Given the description of an element on the screen output the (x, y) to click on. 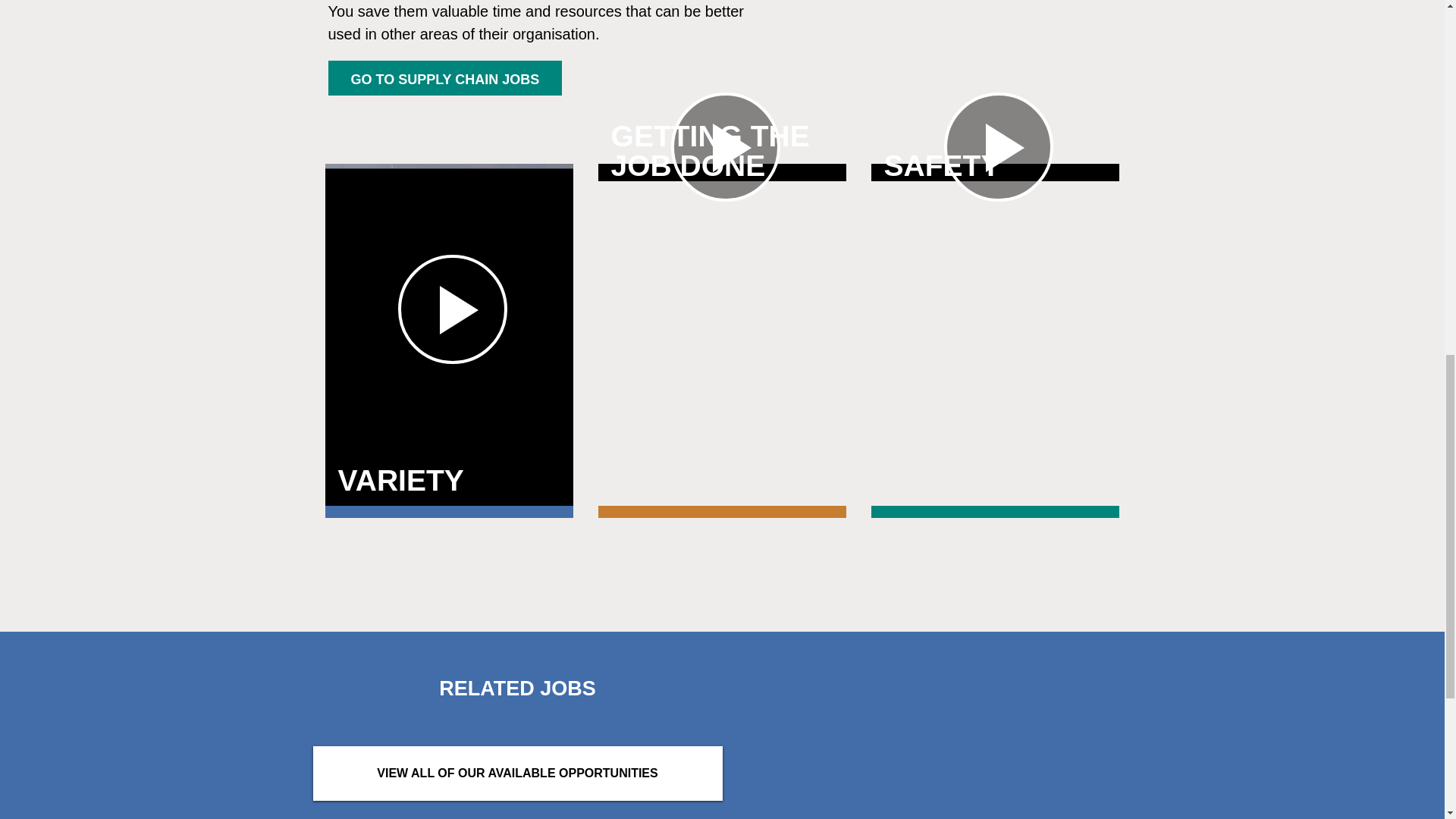
GO TO SUPPLY CHAIN JOBS (444, 77)
VIEW ALL OF OUR AVAILABLE OPPORTUNITIES (517, 773)
